Given the description of an element on the screen output the (x, y) to click on. 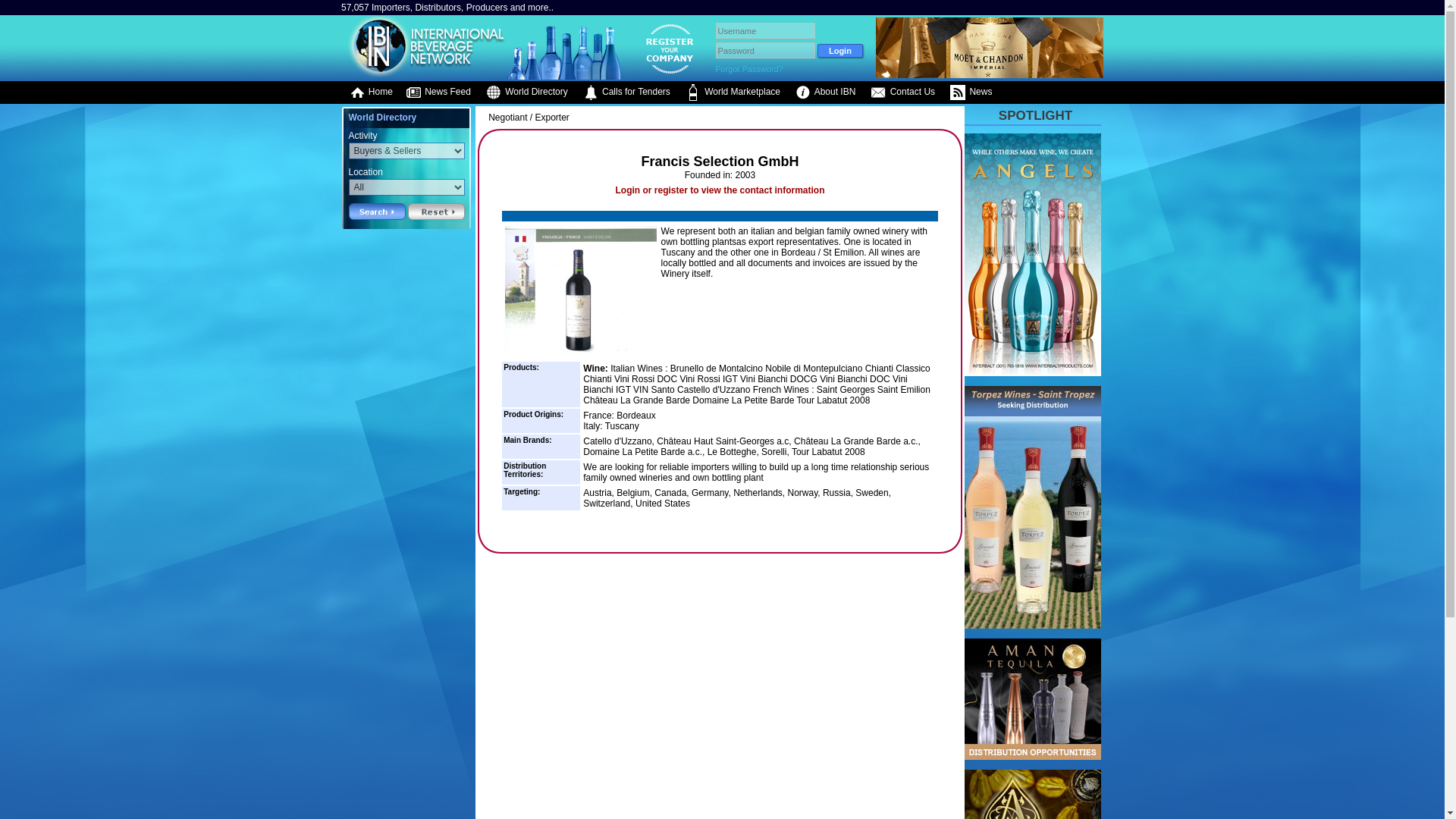
Home Page Top Header Banner (989, 74)
Home (370, 92)
About IBN (825, 92)
News (970, 92)
Calls for Tenders (626, 92)
Login (839, 50)
World Marketplace (732, 92)
International Beverage Network Home (423, 75)
Login or register to view the contact information (719, 190)
World Directory (526, 92)
